Given the description of an element on the screen output the (x, y) to click on. 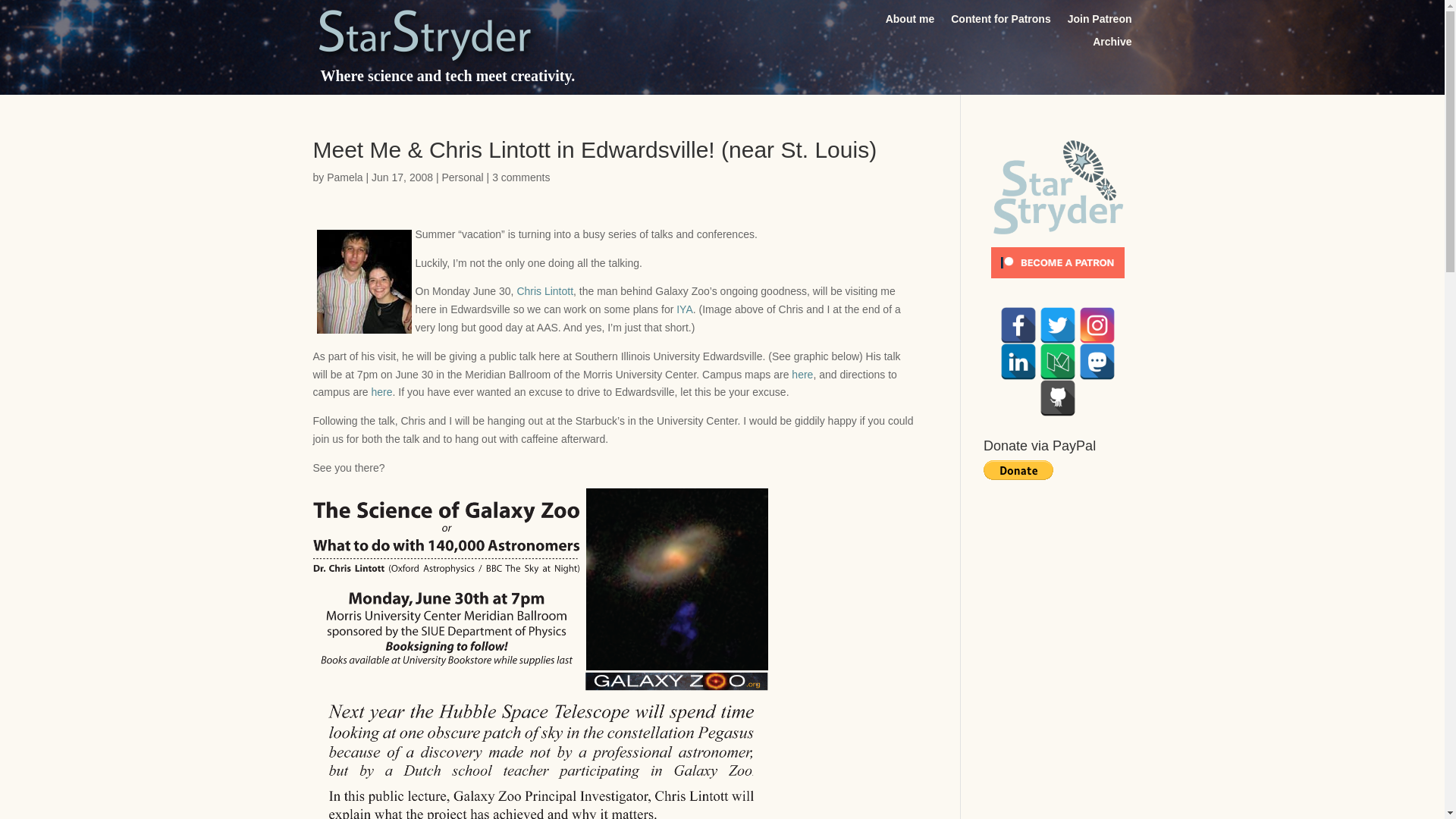
pamelaandchris1 (364, 281)
GitHub (1057, 398)
here (382, 391)
Pamela (344, 177)
LinkedIn (1018, 361)
IYA (685, 309)
3 comments (521, 177)
Instagram (1096, 325)
Content for Patrons (999, 21)
About me (909, 21)
Join Patreon (1099, 21)
Posts by Pamela (344, 177)
Archive (1112, 44)
Medium (1057, 361)
